Given the description of an element on the screen output the (x, y) to click on. 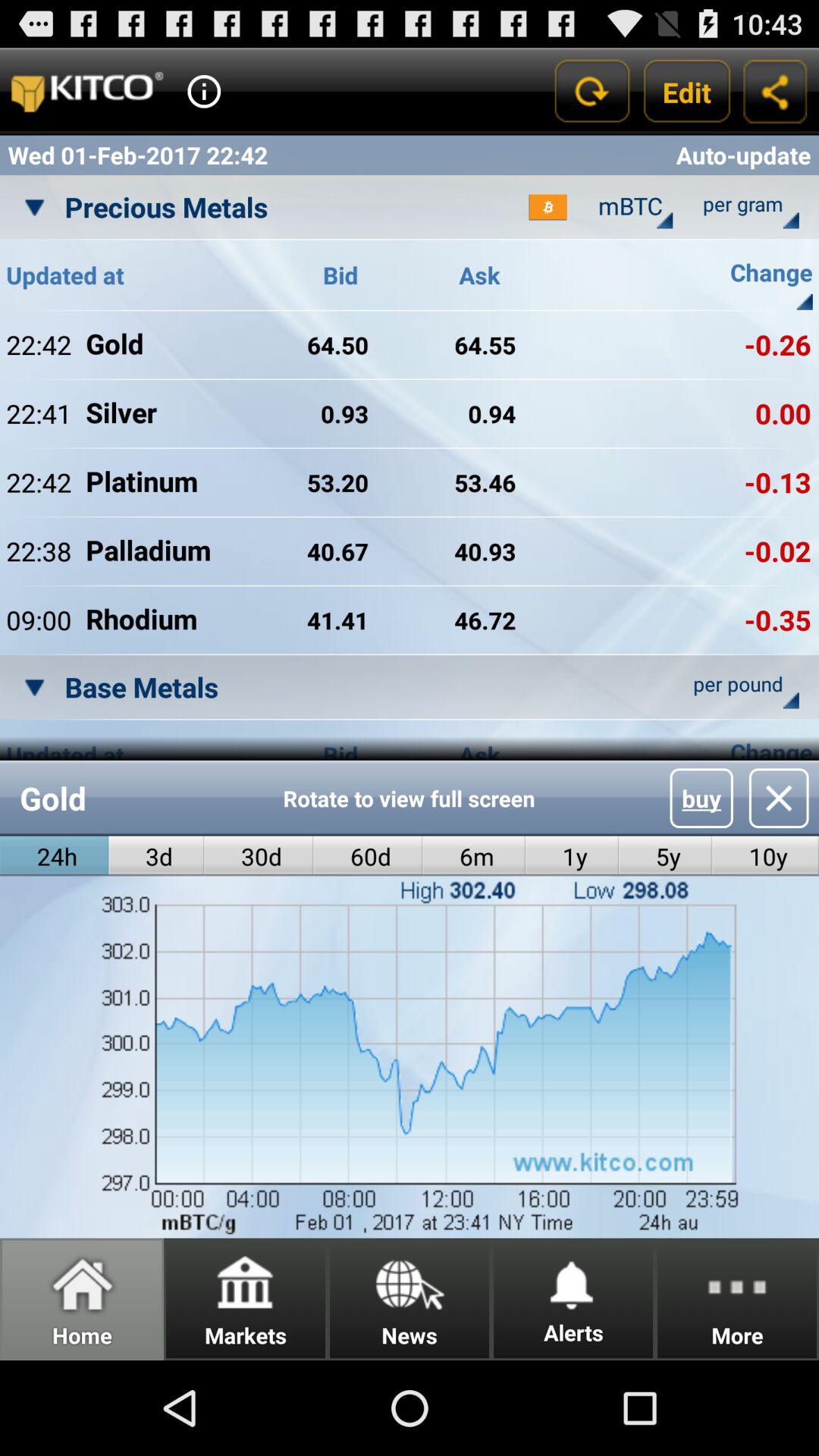
choose 1y radio button (571, 856)
